Given the description of an element on the screen output the (x, y) to click on. 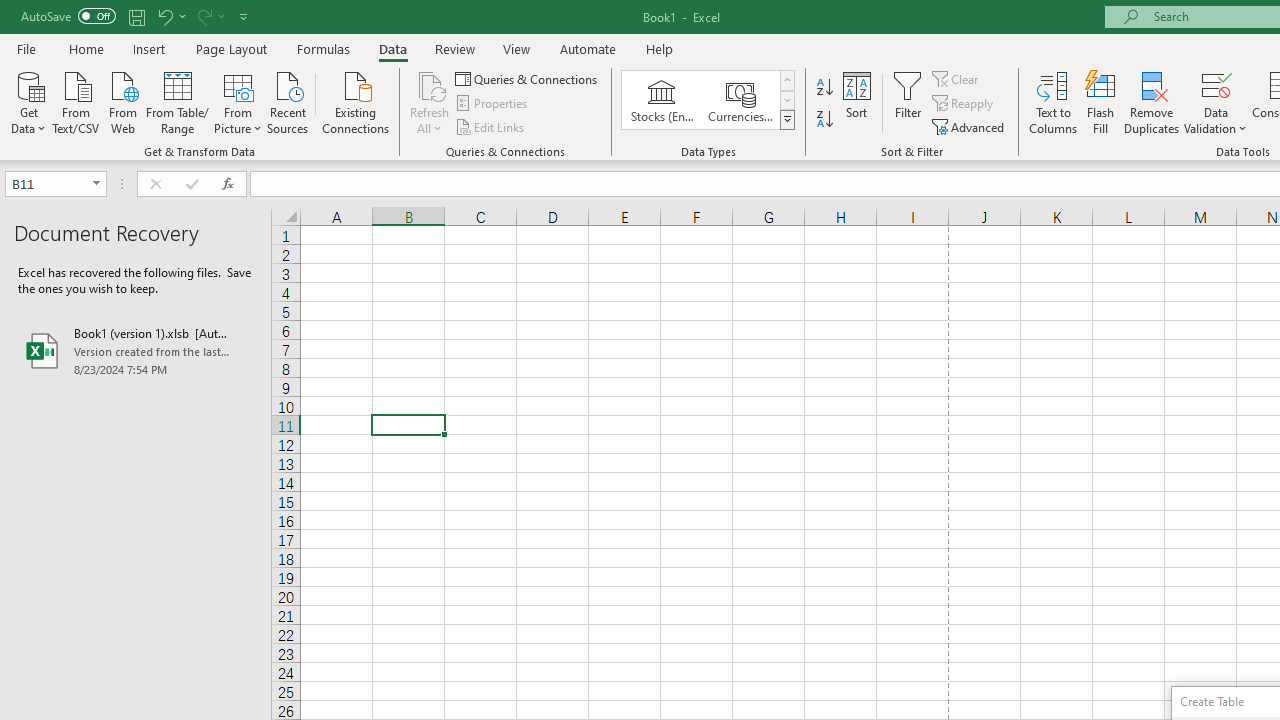
Sort... (856, 102)
Queries & Connections (527, 78)
From Web (122, 101)
Remove Duplicates (1151, 102)
Flash Fill (1101, 102)
Advanced... (970, 126)
Get Data (28, 101)
